Given the description of an element on the screen output the (x, y) to click on. 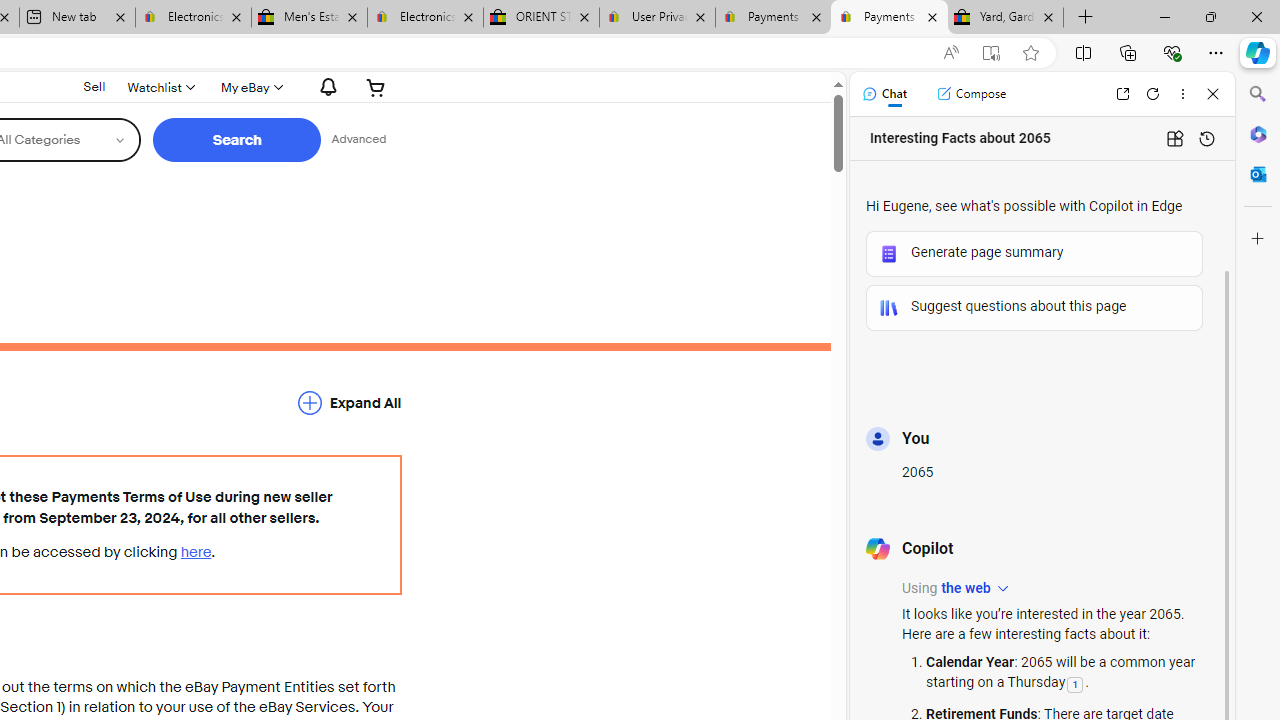
Enter Immersive Reader (F9) (991, 53)
Advanced Search (358, 139)
Payments Terms of Use | eBay.com (889, 17)
Expand Cart (376, 87)
AutomationID: gh-eb-Alerts (325, 87)
My eBayExpand My eBay (249, 87)
Chat (884, 93)
Sell (93, 86)
